Given the description of an element on the screen output the (x, y) to click on. 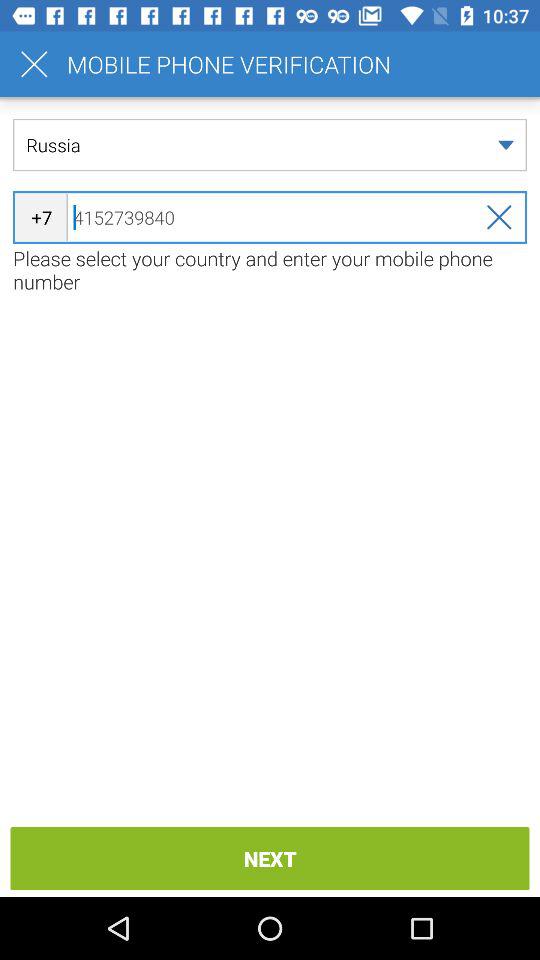
swipe to 4152739840 item (269, 217)
